Given the description of an element on the screen output the (x, y) to click on. 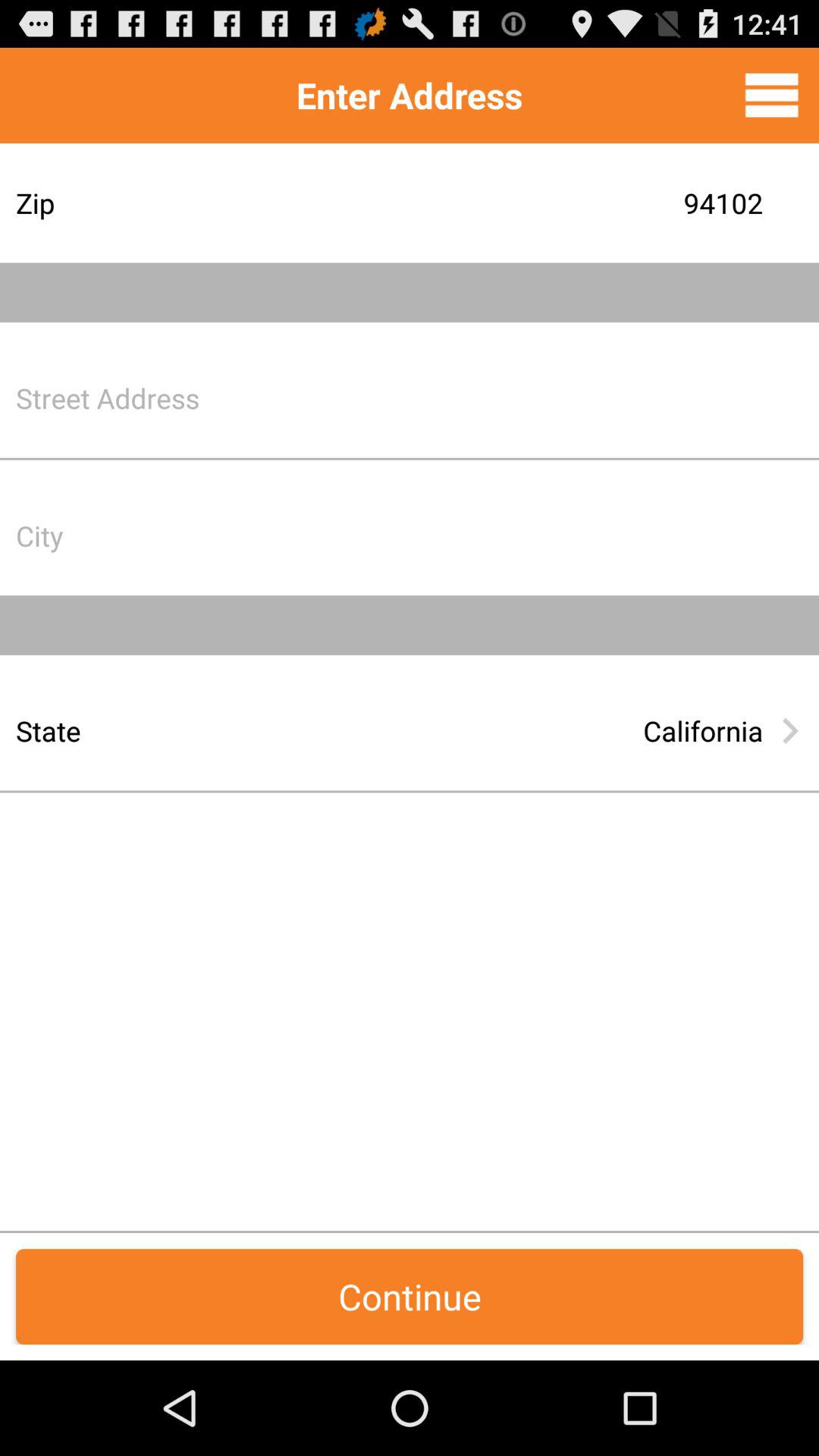
enter street address (527, 397)
